Given the description of an element on the screen output the (x, y) to click on. 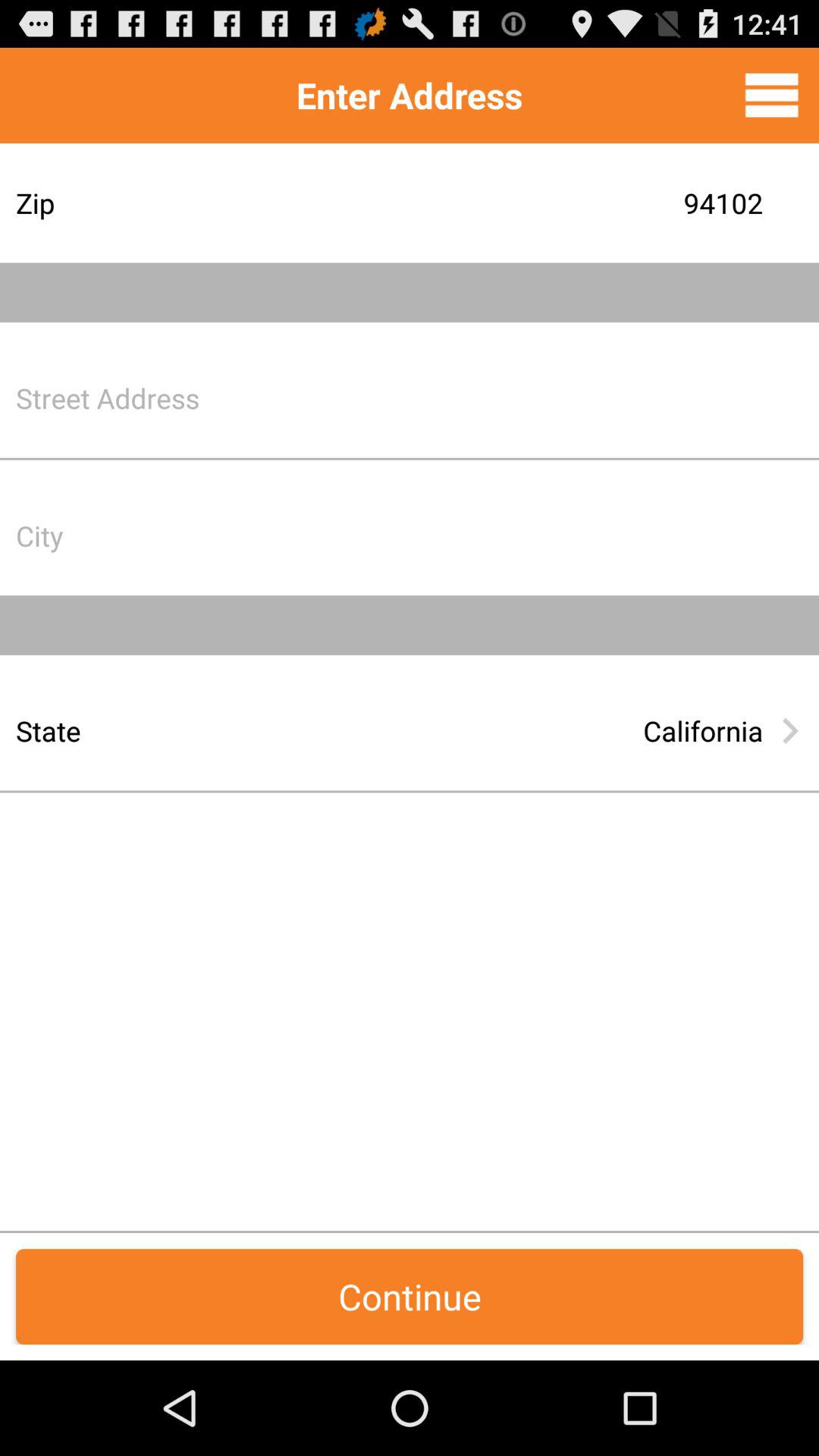
enter street address (527, 397)
